Given the description of an element on the screen output the (x, y) to click on. 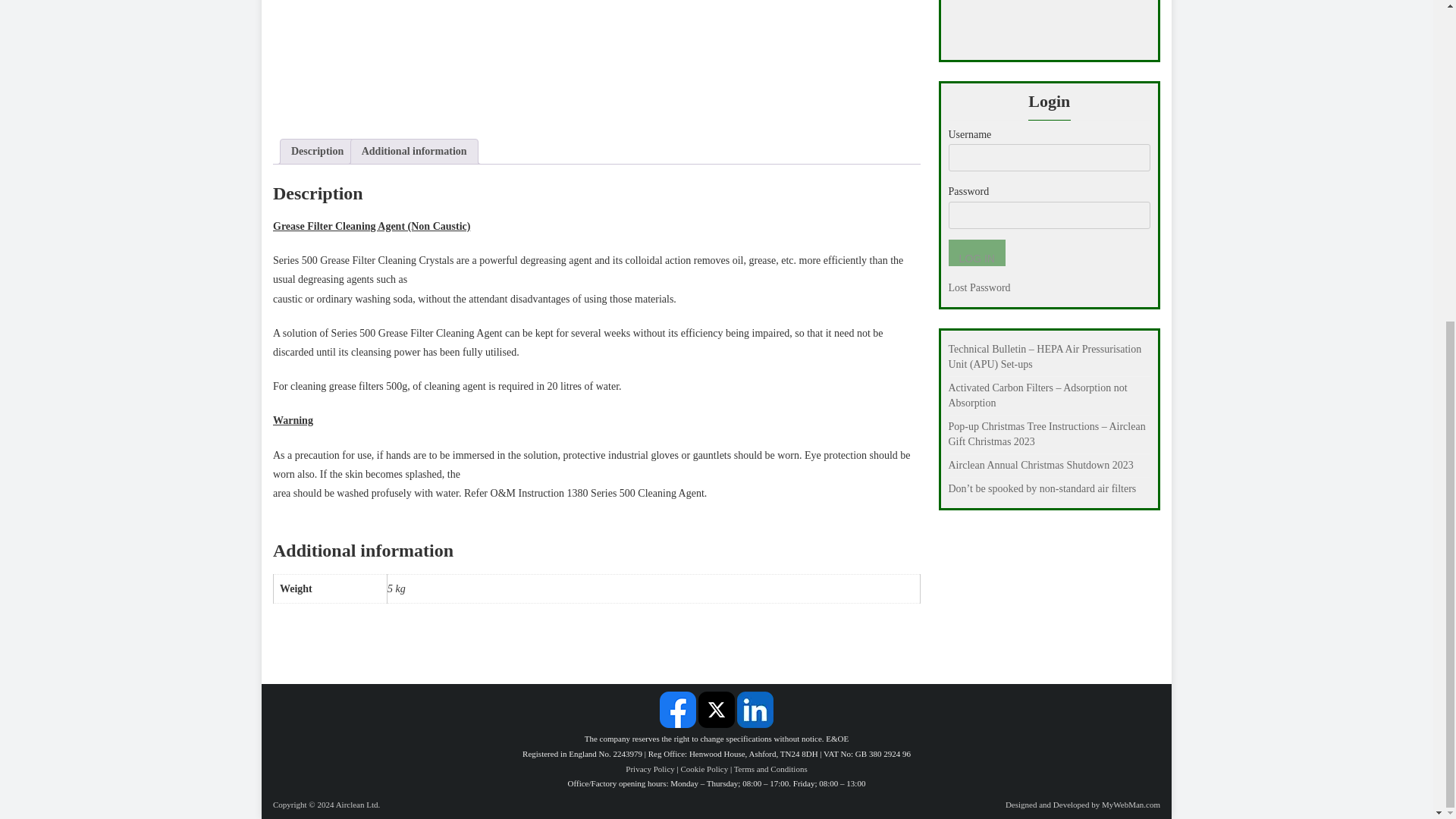
Log In (975, 252)
